Given the description of an element on the screen output the (x, y) to click on. 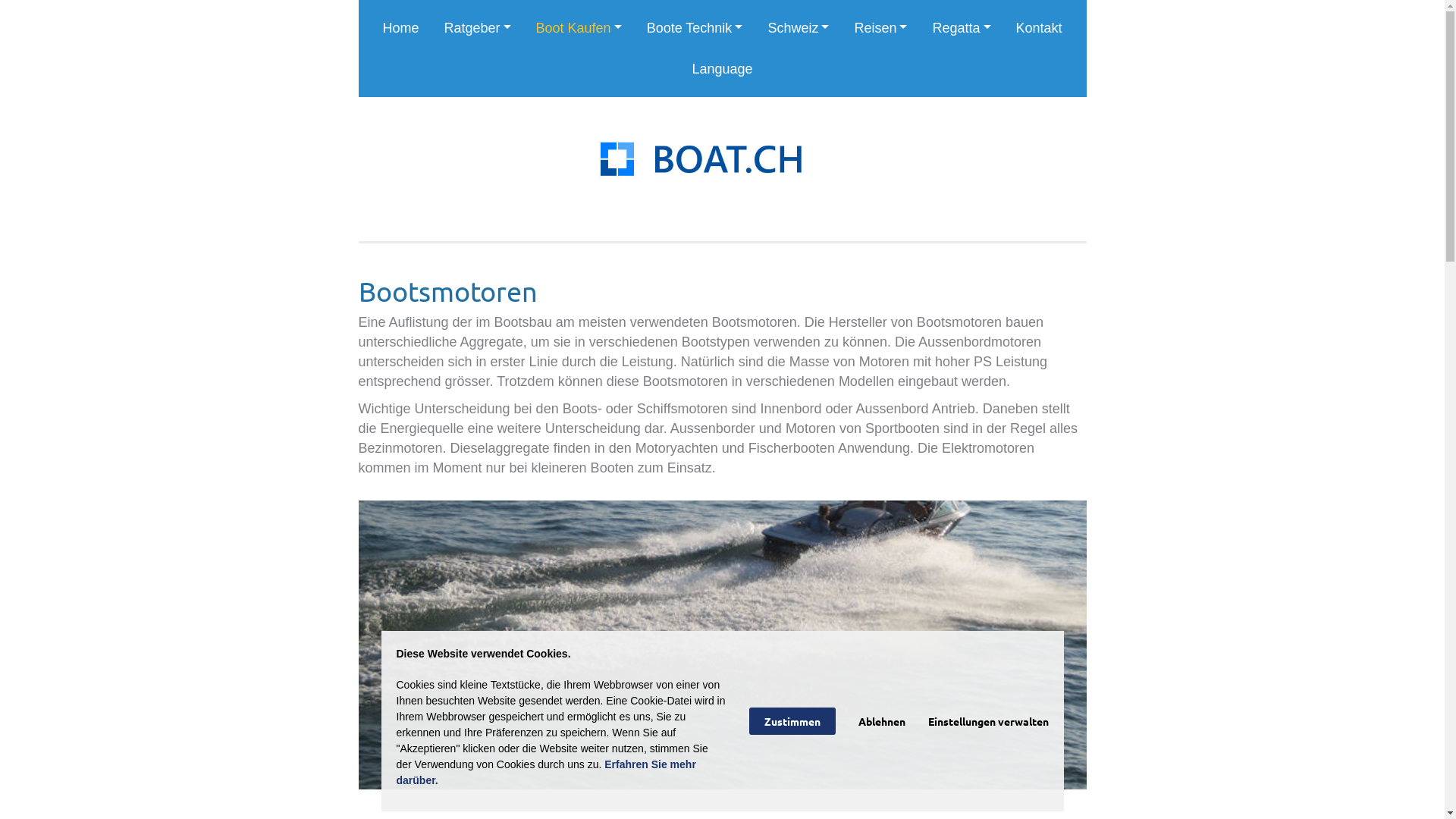
Einstellungen verwalten Element type: text (988, 720)
Ablehnen Element type: text (881, 720)
Home Element type: text (400, 27)
Kontakt Element type: text (1039, 27)
BOAT.CH Element type: hover (722, 158)
Zustimmen Element type: text (792, 720)
Language Element type: text (721, 68)
